Given the description of an element on the screen output the (x, y) to click on. 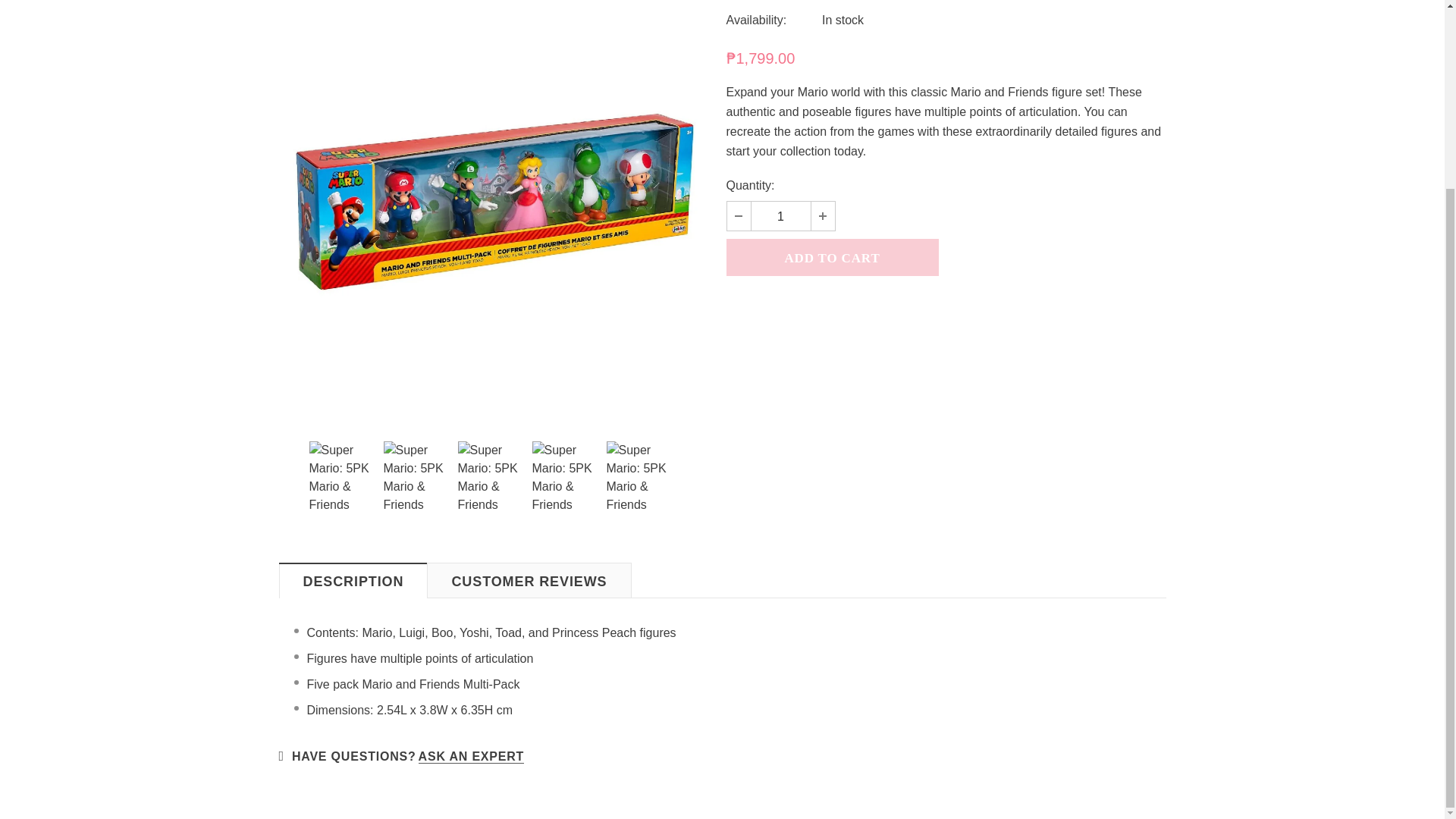
1 (780, 215)
Ask An Expert (471, 756)
Add to Cart (832, 257)
